Given the description of an element on the screen output the (x, y) to click on. 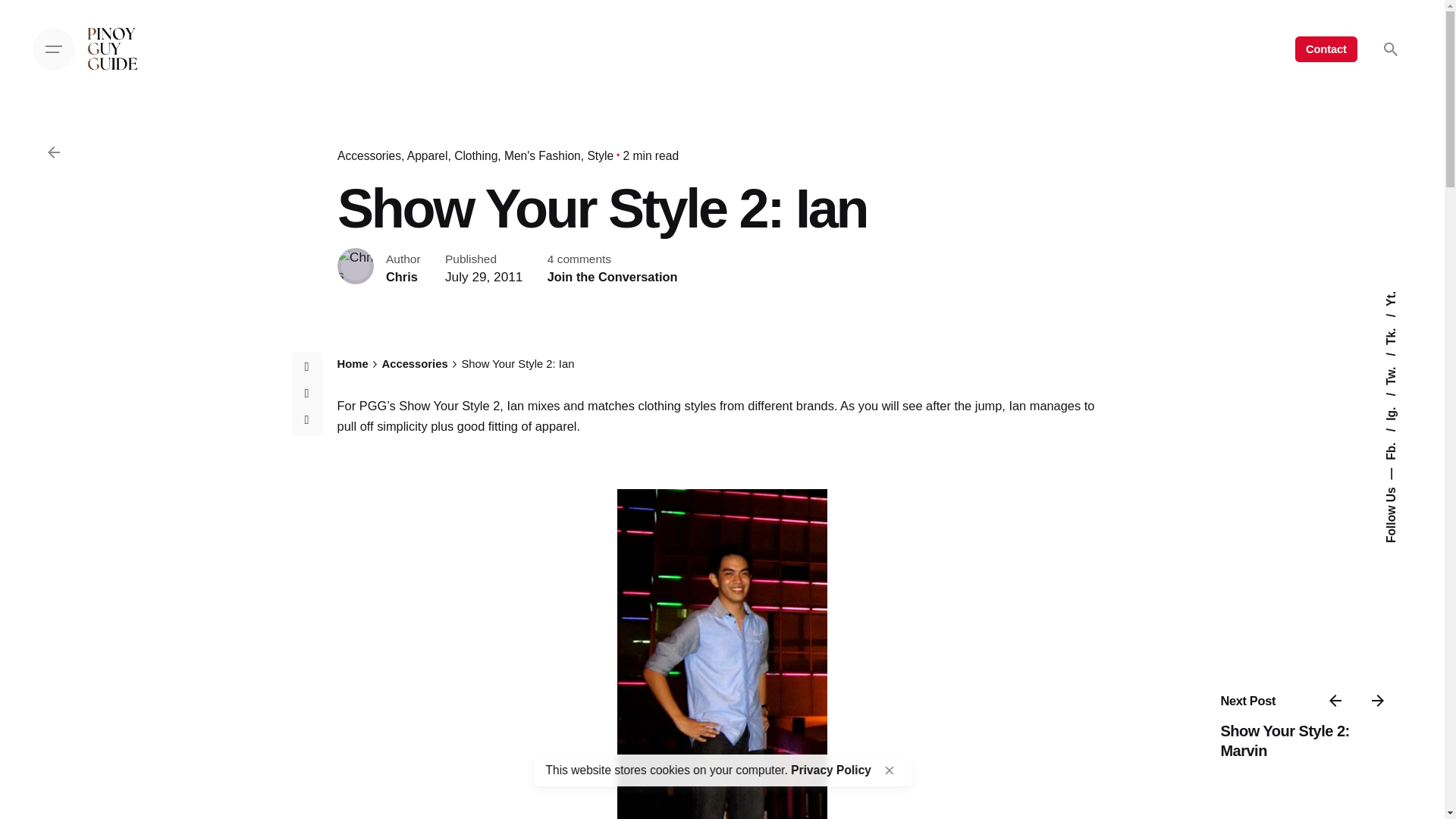
Yt. (1391, 297)
Tw. (1400, 358)
Tk. (1399, 319)
Contact (1325, 49)
Ig. (1398, 399)
Fb. (1399, 434)
